Given the description of an element on the screen output the (x, y) to click on. 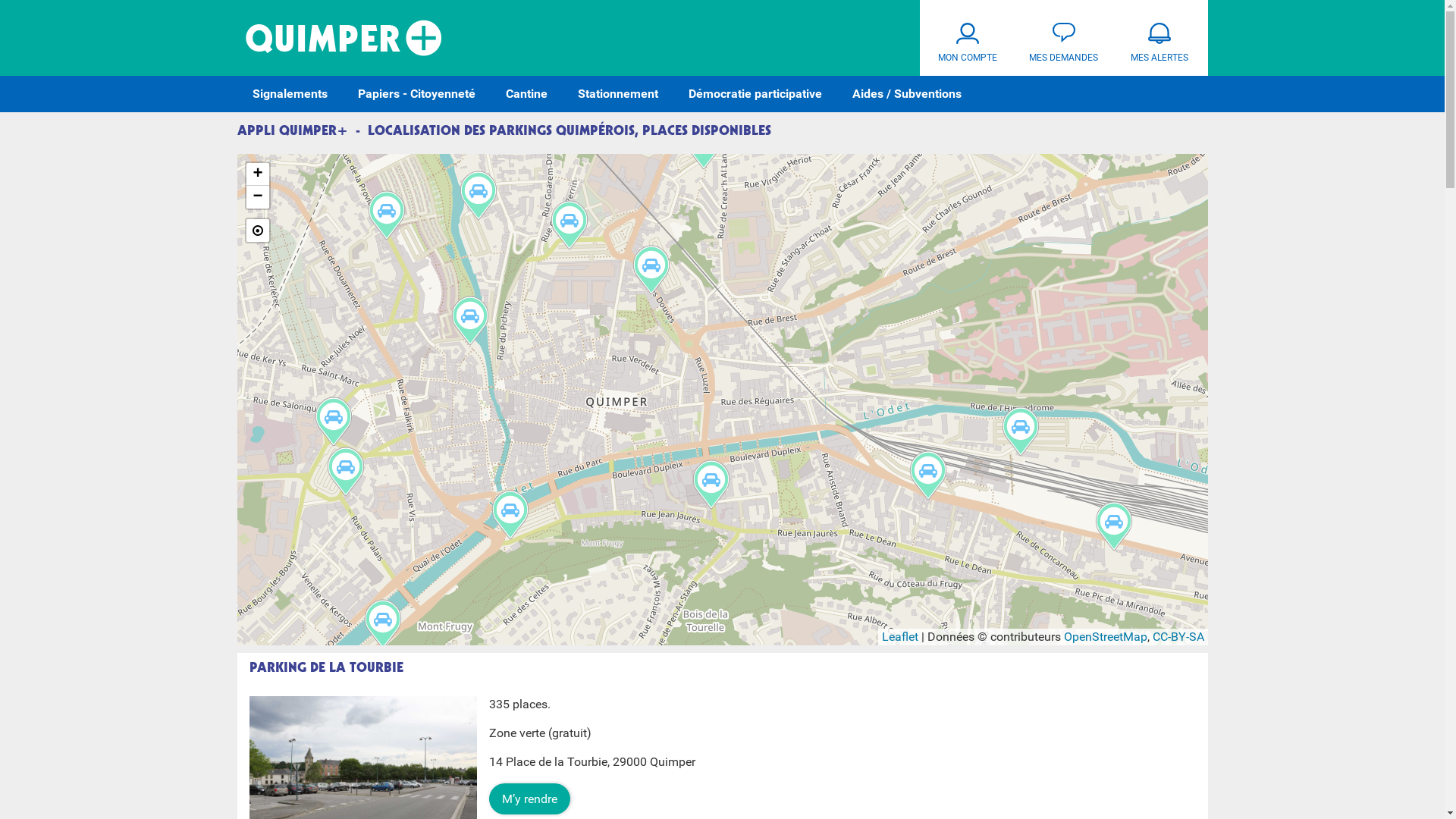
+ Element type: text (256, 174)
Leaflet Element type: text (899, 636)
Stationnement Element type: text (617, 93)
CC-BY-SA Element type: text (1178, 636)
Signalements Element type: text (289, 93)
OpenStreetMap Element type: text (1104, 636)
MES DEMANDES Element type: text (1063, 37)
Cantine Element type: text (525, 93)
MON COMPTE Element type: text (967, 37)
MES ALERTES Element type: text (1159, 37)
Accueil - Quimper+ Element type: hover (343, 37)
Aides / Subventions Element type: text (906, 93)
